Given the description of an element on the screen output the (x, y) to click on. 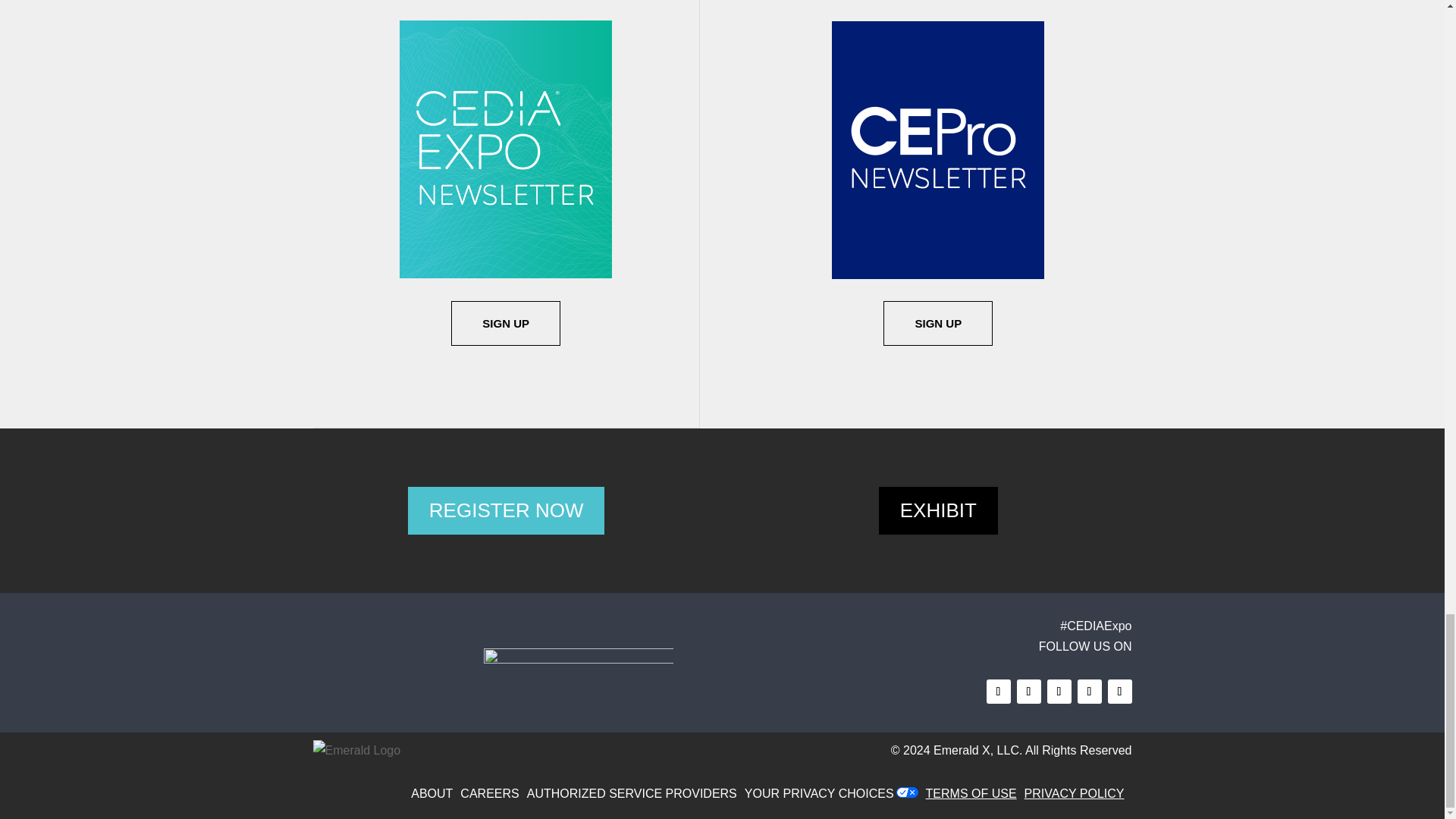
Follow on Instagram (1058, 691)
Follow on Facebook (997, 691)
authorized-service-providers (635, 793)
Follow on X (1028, 691)
about (435, 793)
your-privacy-choices (822, 793)
privacy-policy (1078, 793)
Follow on Youtube (1088, 691)
Follow on LinkedIn (1118, 691)
footer-logo-white (577, 662)
careers (492, 793)
terms-of-use (975, 793)
